Given the description of an element on the screen output the (x, y) to click on. 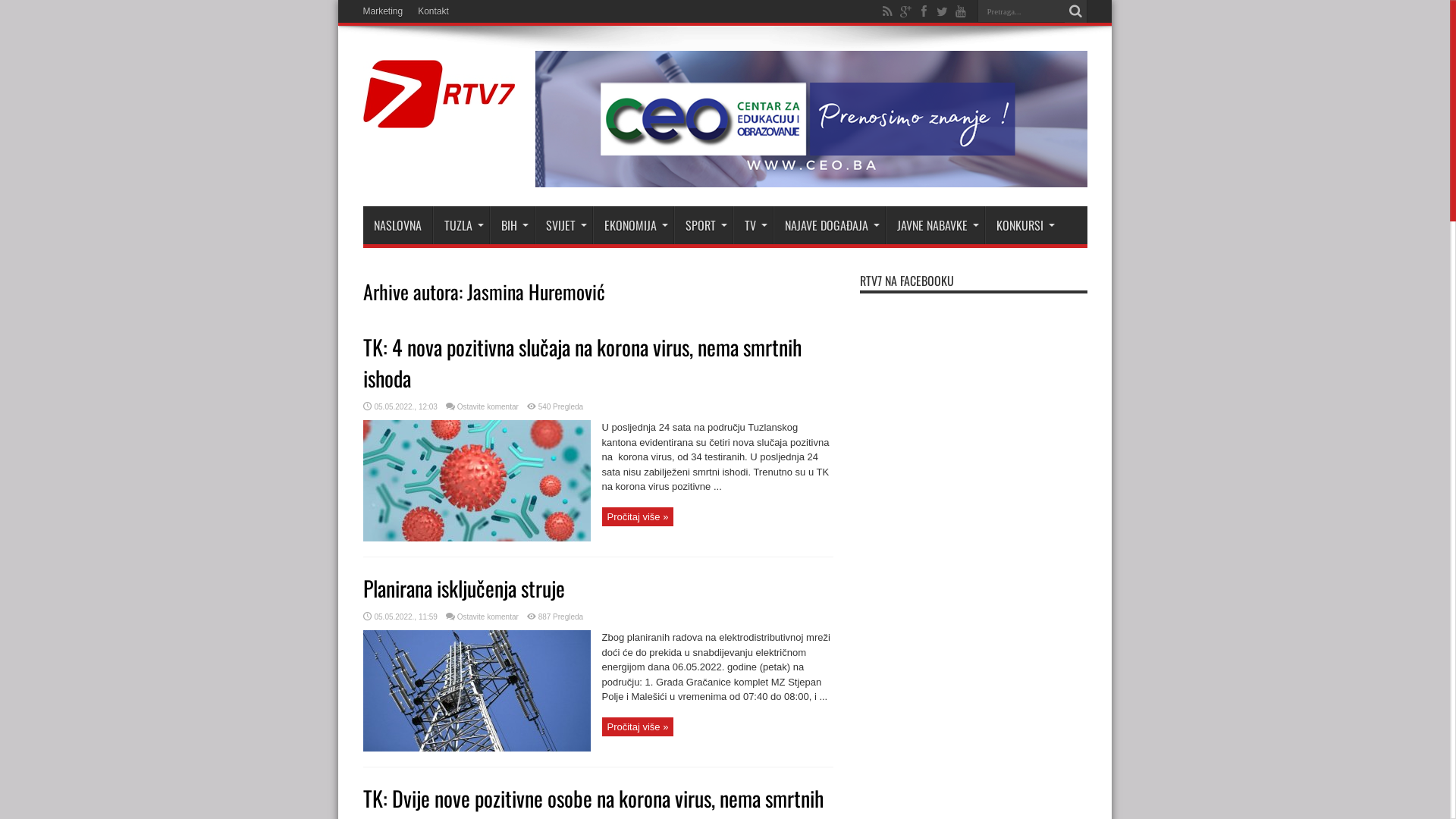
Pretraga Element type: text (1075, 11)
BIH Element type: text (511, 225)
SPORT Element type: text (702, 225)
Centar za edukaciju i obrazovanje CEO Element type: hover (811, 183)
TV Element type: text (751, 225)
Marketing Element type: text (382, 11)
Ostavite komentar Element type: text (487, 406)
TUZLA Element type: text (460, 225)
KONKURSI Element type: text (1021, 225)
JAVNE NABAVKE Element type: text (934, 225)
Advertisement Element type: hover (973, 554)
EKONOMIJA Element type: text (633, 225)
SVIJET Element type: text (562, 225)
Ostavite komentar Element type: text (487, 616)
Kontakt Element type: text (432, 11)
NASLOVNA Element type: text (396, 225)
RTV7 | Medijski servis grada Tuzle Element type: hover (438, 116)
